Given the description of an element on the screen output the (x, y) to click on. 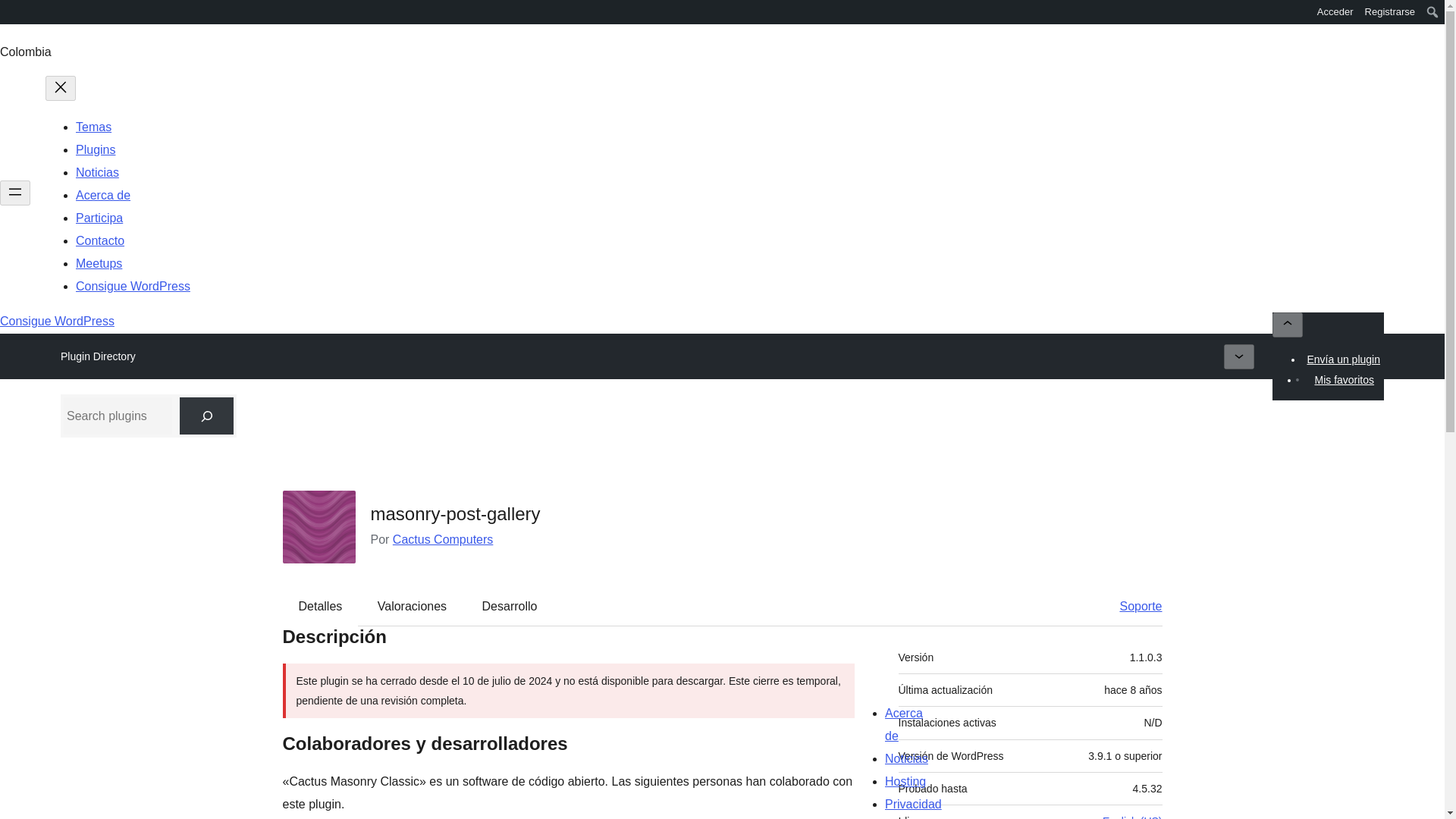
Registrarse (1390, 12)
Meetups (98, 263)
Mis favoritos (1343, 379)
Valoraciones (411, 605)
Plugin Directory (97, 356)
Participa (98, 217)
Cactus Computers (443, 539)
Desarrollo (510, 605)
Temas (93, 126)
Consigue WordPress (57, 320)
Noticias (97, 172)
WordPress.org (10, 10)
Plugins (95, 149)
Contacto (99, 240)
Soporte (1132, 605)
